Given the description of an element on the screen output the (x, y) to click on. 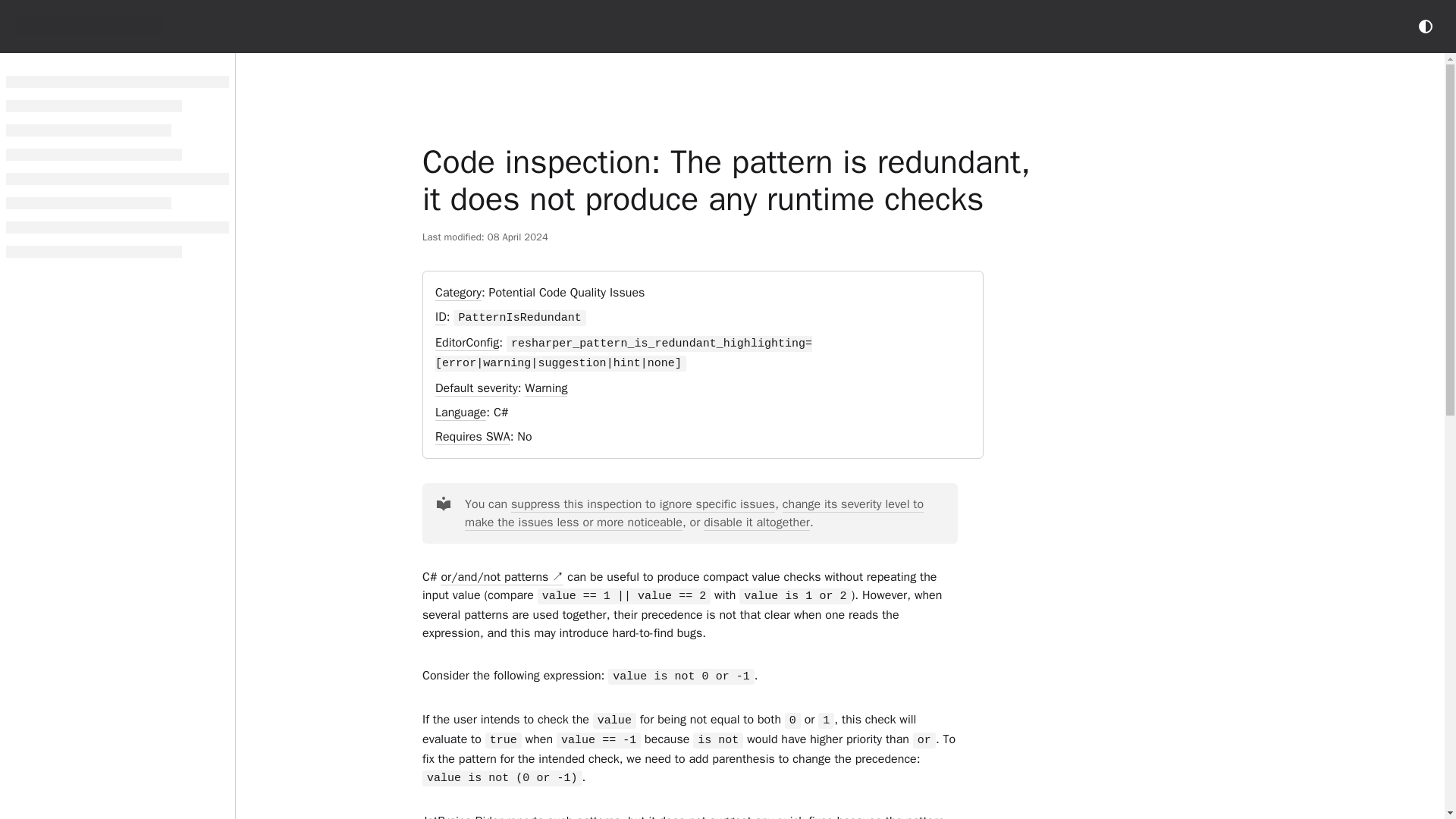
Default severity (476, 388)
Language (460, 412)
suppress this inspection to ignore specific issues (642, 504)
Requires SWA (473, 437)
Category (458, 293)
disable it altogether (756, 522)
Warning (545, 388)
EditorConfig (467, 342)
Switch theme (1425, 26)
